Given the description of an element on the screen output the (x, y) to click on. 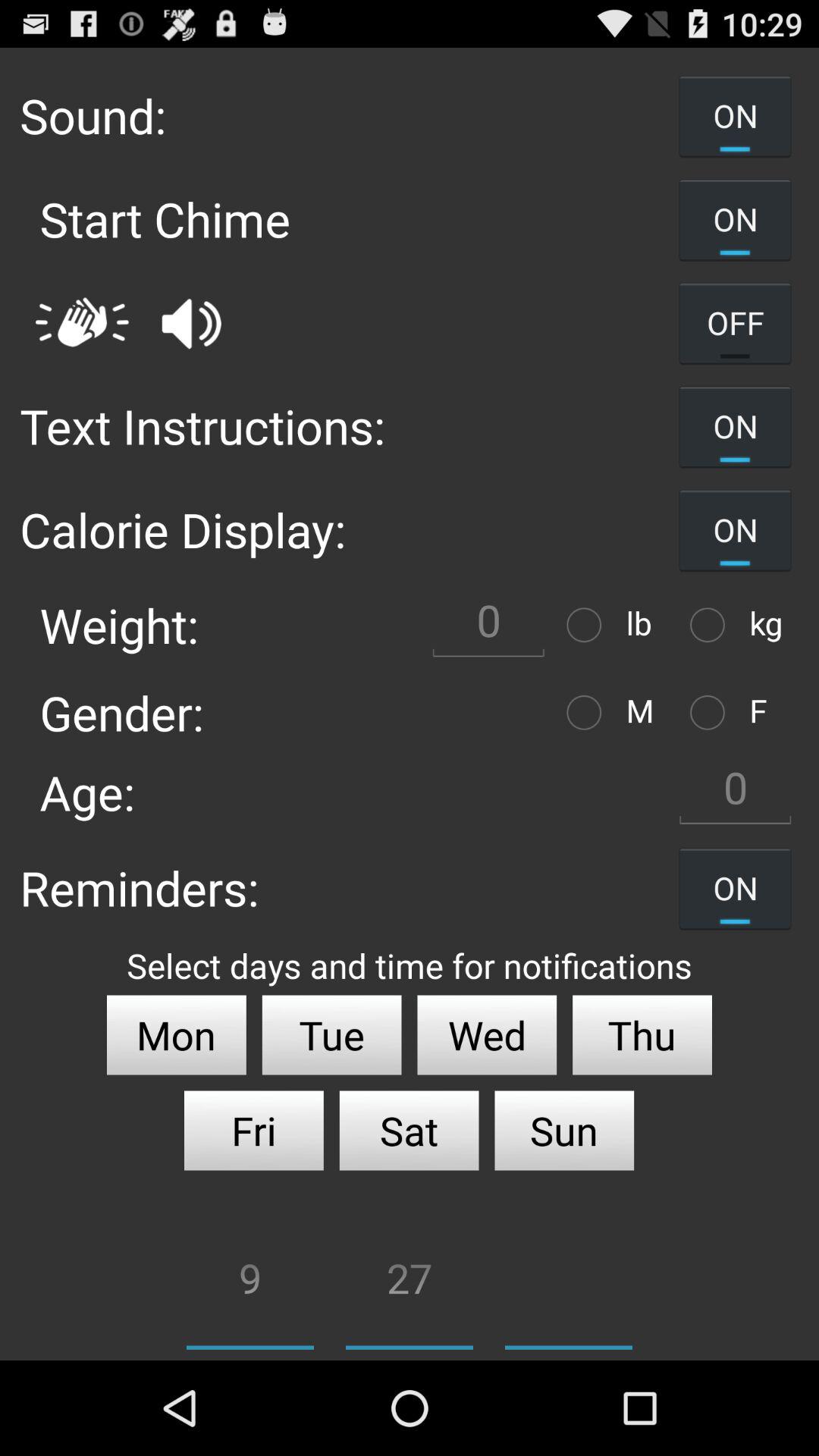
select female gender (711, 712)
